Given the description of an element on the screen output the (x, y) to click on. 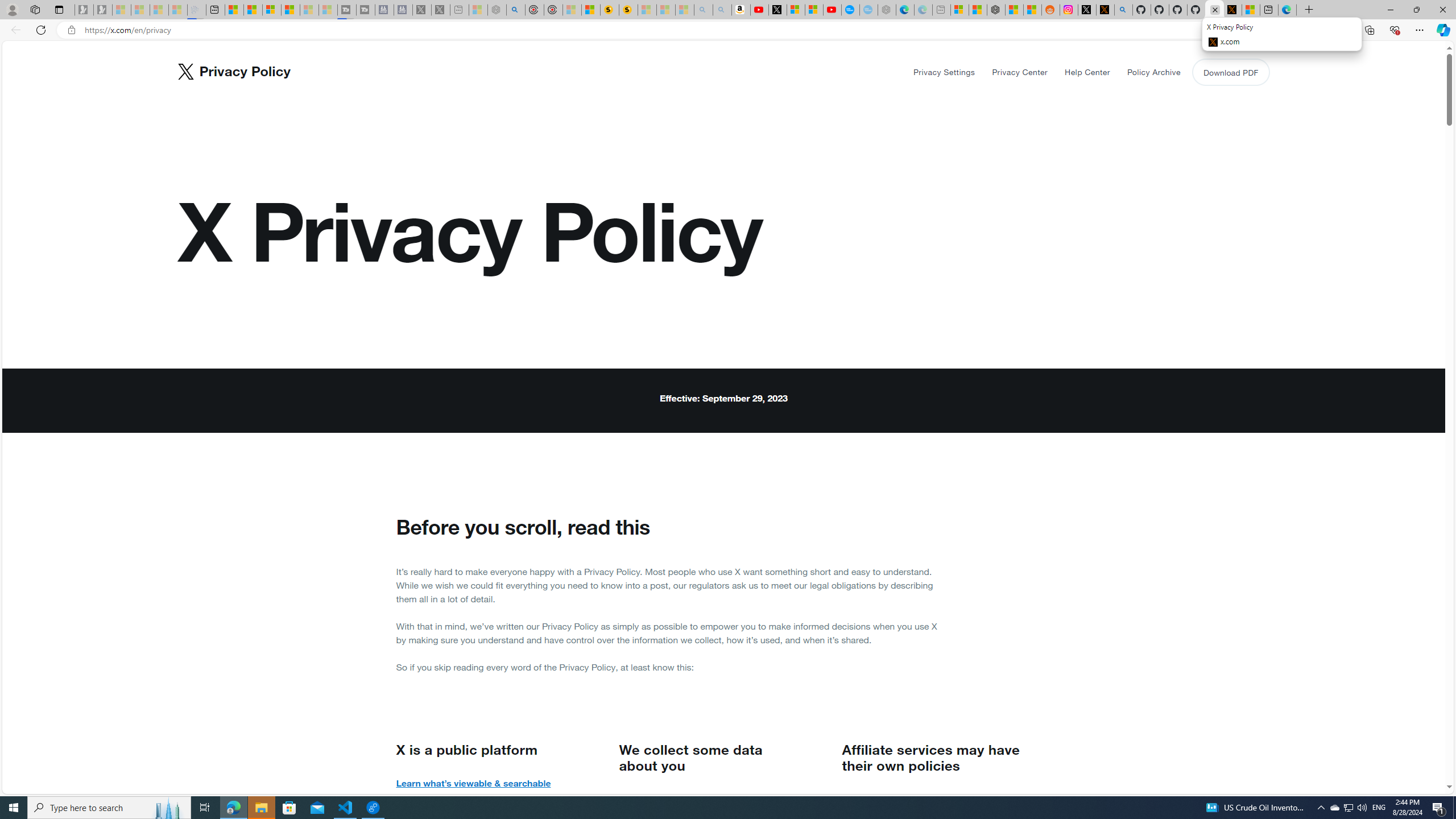
Welcome to Microsoft Edge (1287, 9)
Shanghai, China Weather trends | Microsoft Weather (1032, 9)
Opinion: Op-Ed and Commentary - USA TODAY (850, 9)
Amazon Echo Dot PNG - Search Images - Sleeping (721, 9)
